Given the description of an element on the screen output the (x, y) to click on. 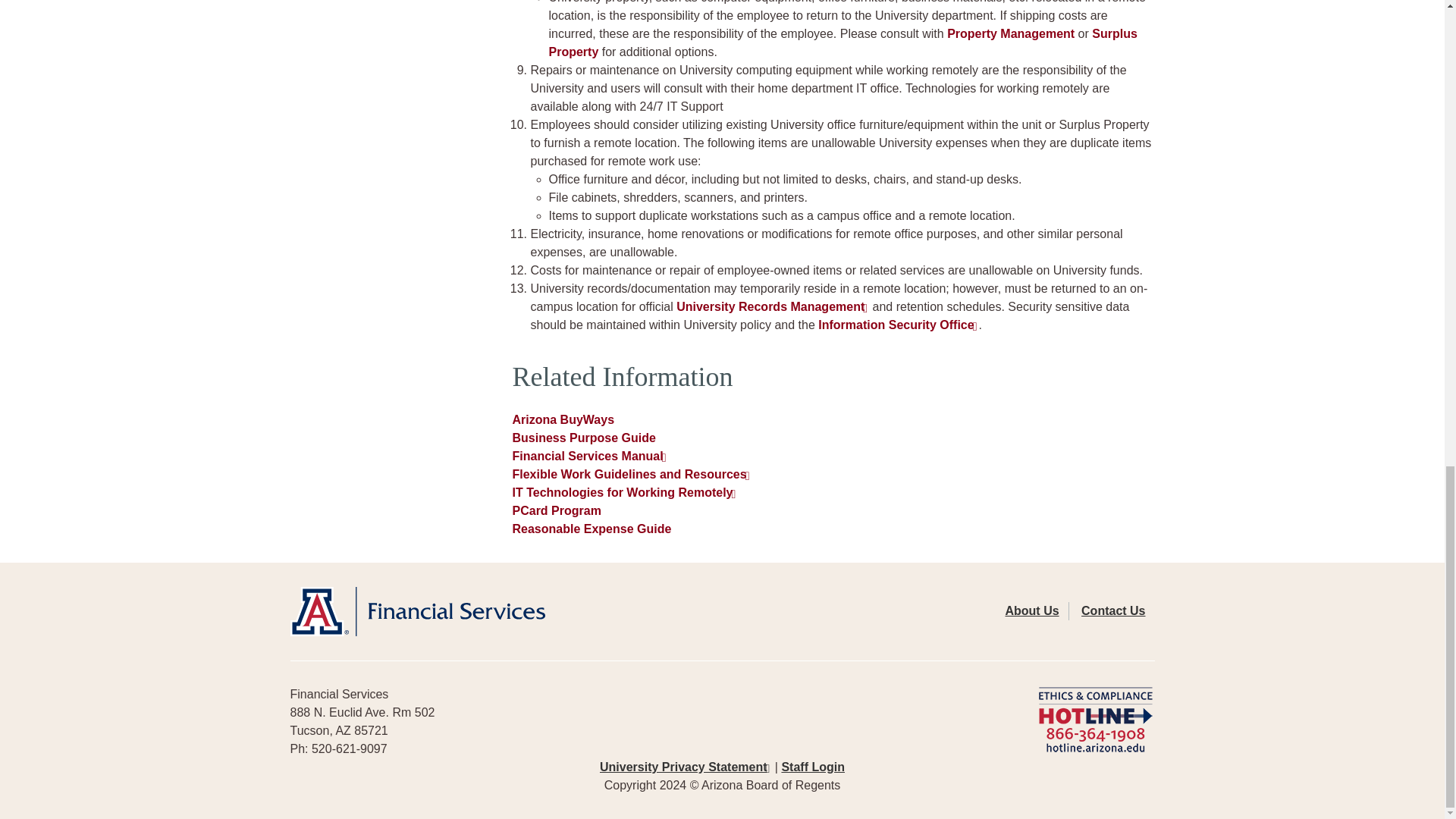
Home (505, 611)
